Given the description of an element on the screen output the (x, y) to click on. 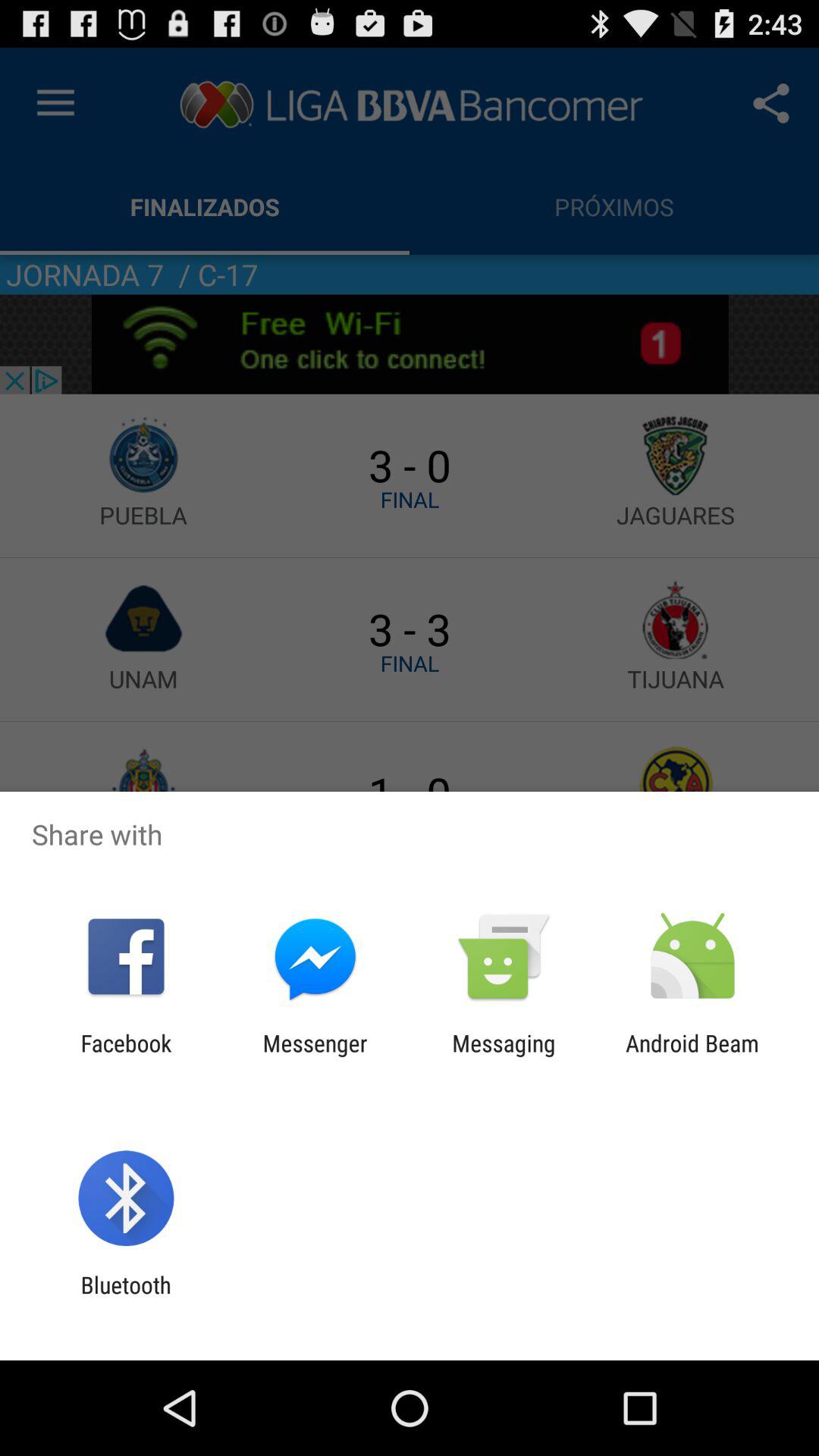
tap the app next to the messaging icon (692, 1056)
